Given the description of an element on the screen output the (x, y) to click on. 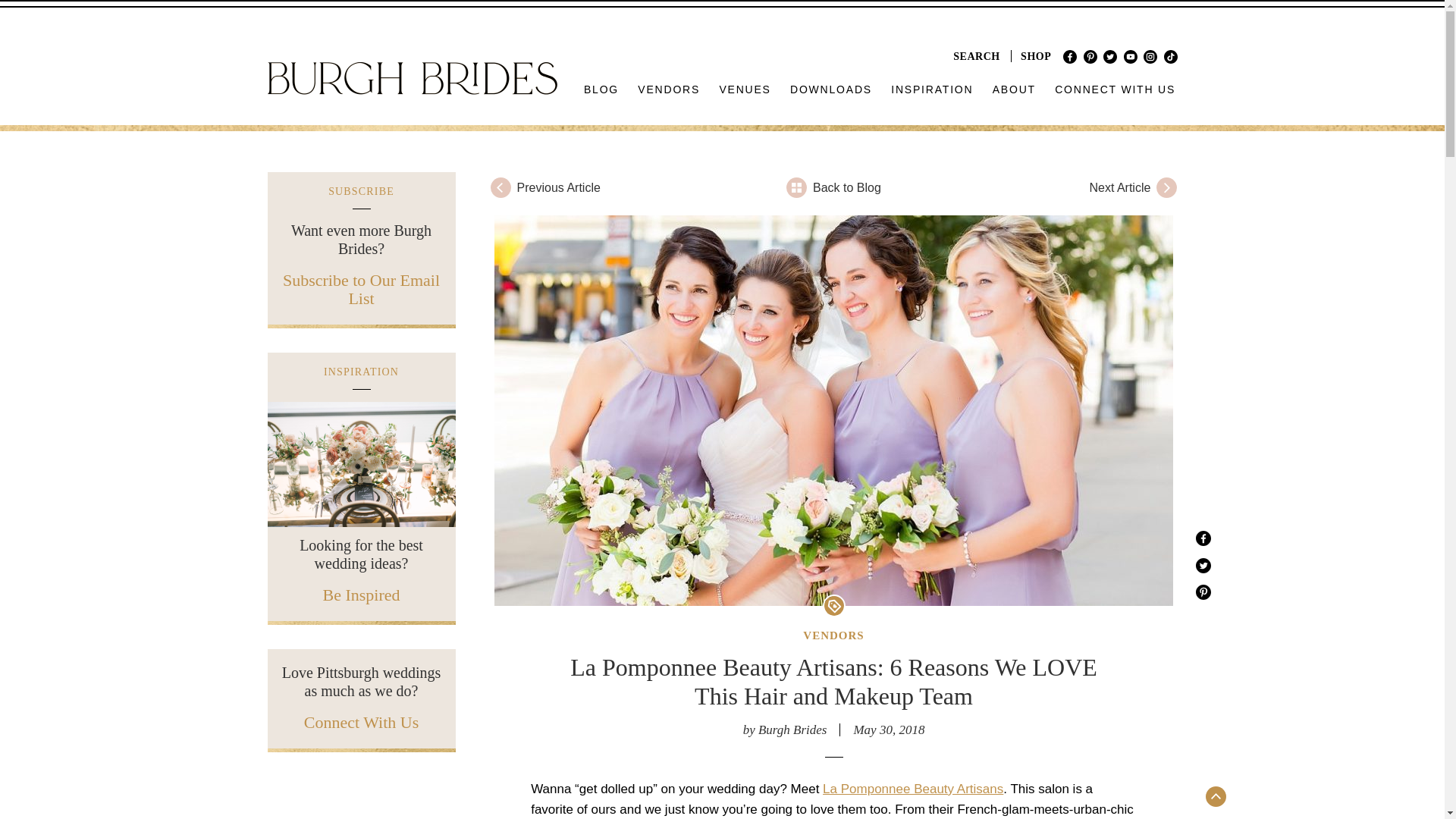
TikTok (1169, 56)
CONNECT WITH US (1114, 89)
VENDORS (668, 89)
Twitter (1109, 56)
VENUES (745, 89)
Facebook (1069, 56)
DOWNLOADS (832, 89)
Instagram (1149, 56)
SEARCH (976, 56)
INSPIRATION (932, 89)
Previous Article (604, 187)
SHOP (1035, 56)
ABOUT (1013, 89)
Pinterest (1090, 56)
Youtube (1130, 56)
